Given the description of an element on the screen output the (x, y) to click on. 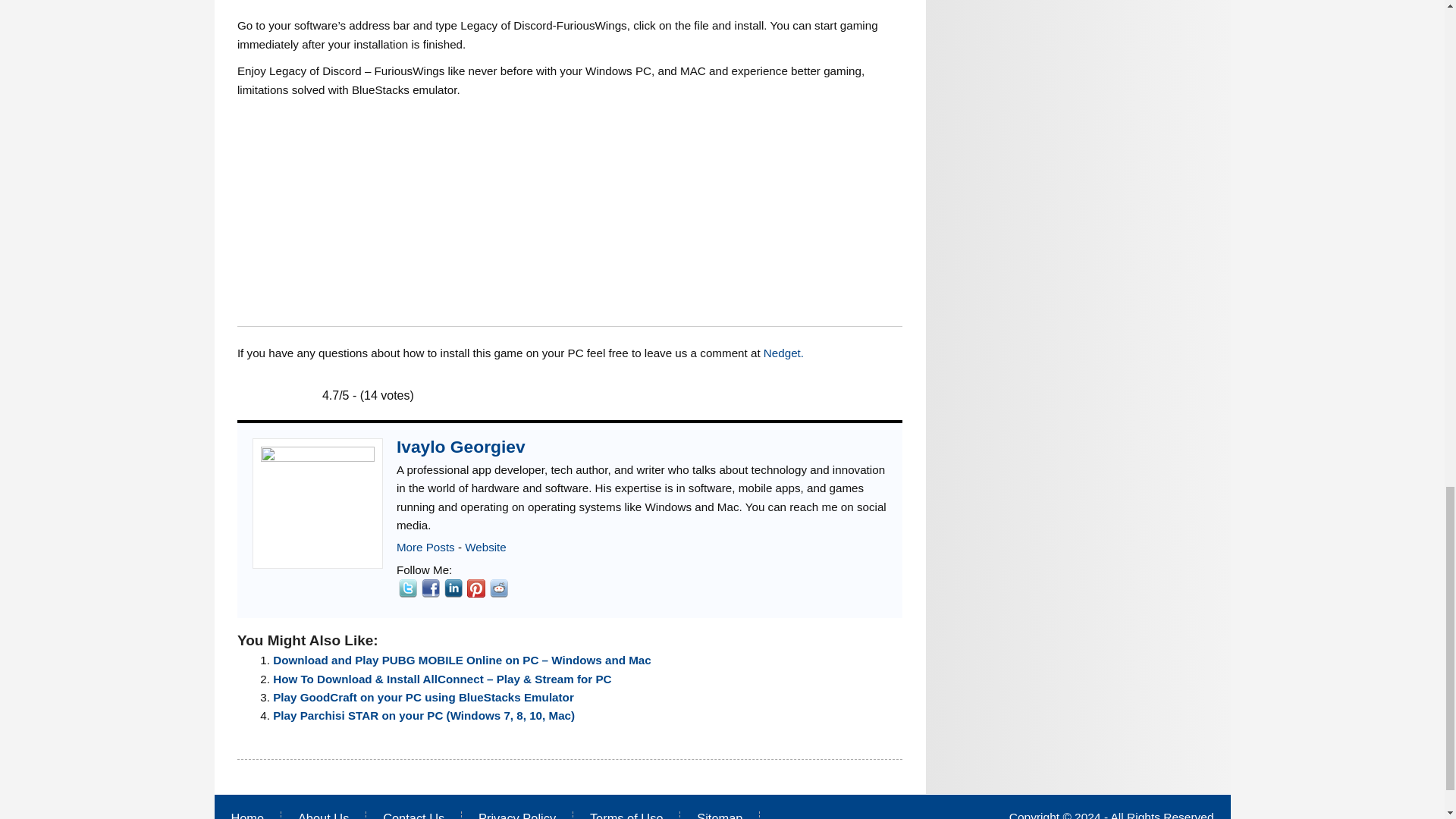
Ivaylo Georgiev (485, 546)
Website (485, 546)
Nedget. (782, 352)
More posts by Ivaylo Georgiev (425, 546)
Play GoodCraft on your PC using BlueStacks Emulator (423, 697)
Play GoodCraft on your PC using BlueStacks Emulator (423, 697)
Ivaylo Georgiev (460, 446)
More Posts (425, 546)
Ivaylo Georgiev (460, 446)
